Given the description of an element on the screen output the (x, y) to click on. 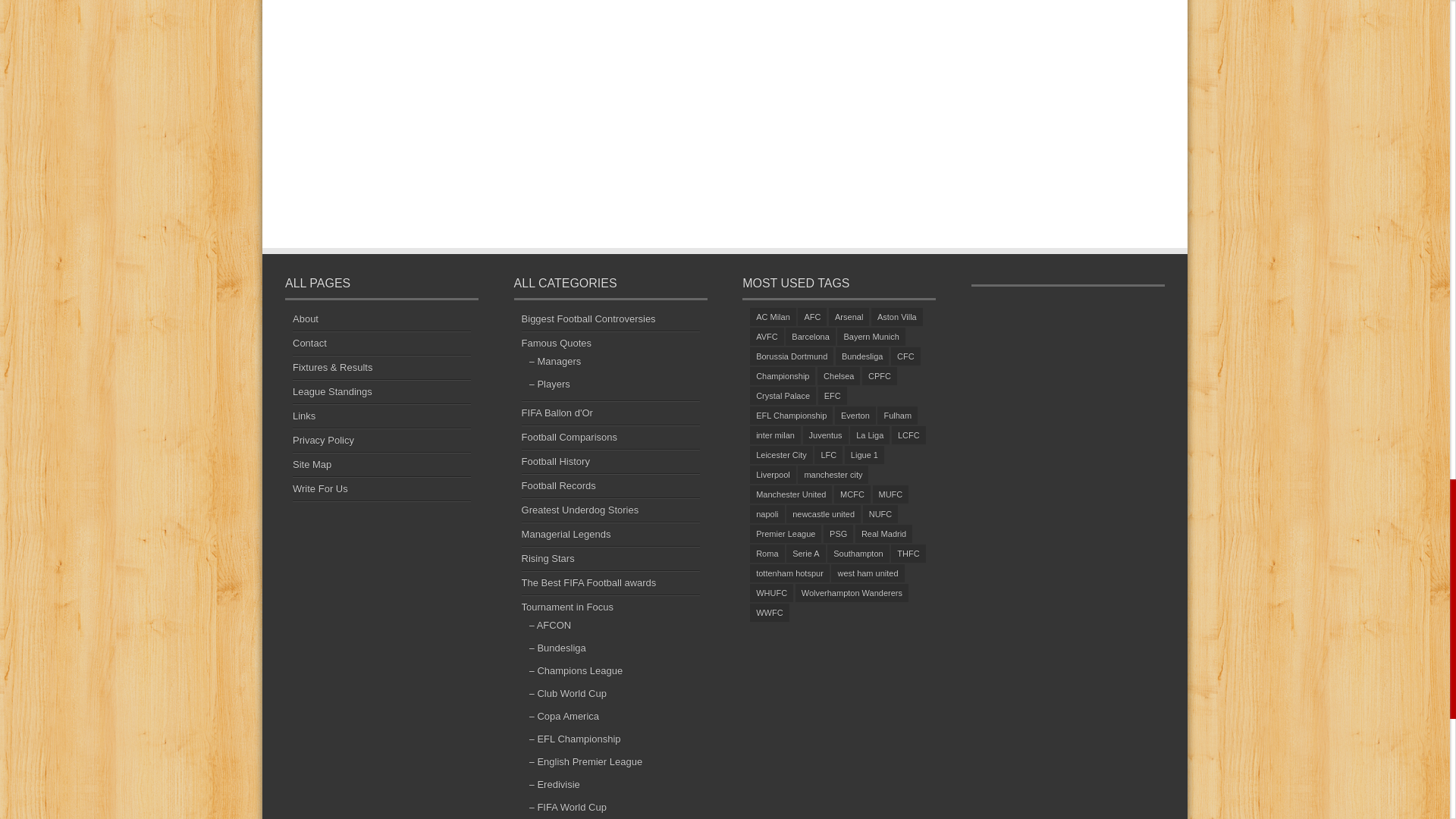
Comment Form (519, 112)
